Given the description of an element on the screen output the (x, y) to click on. 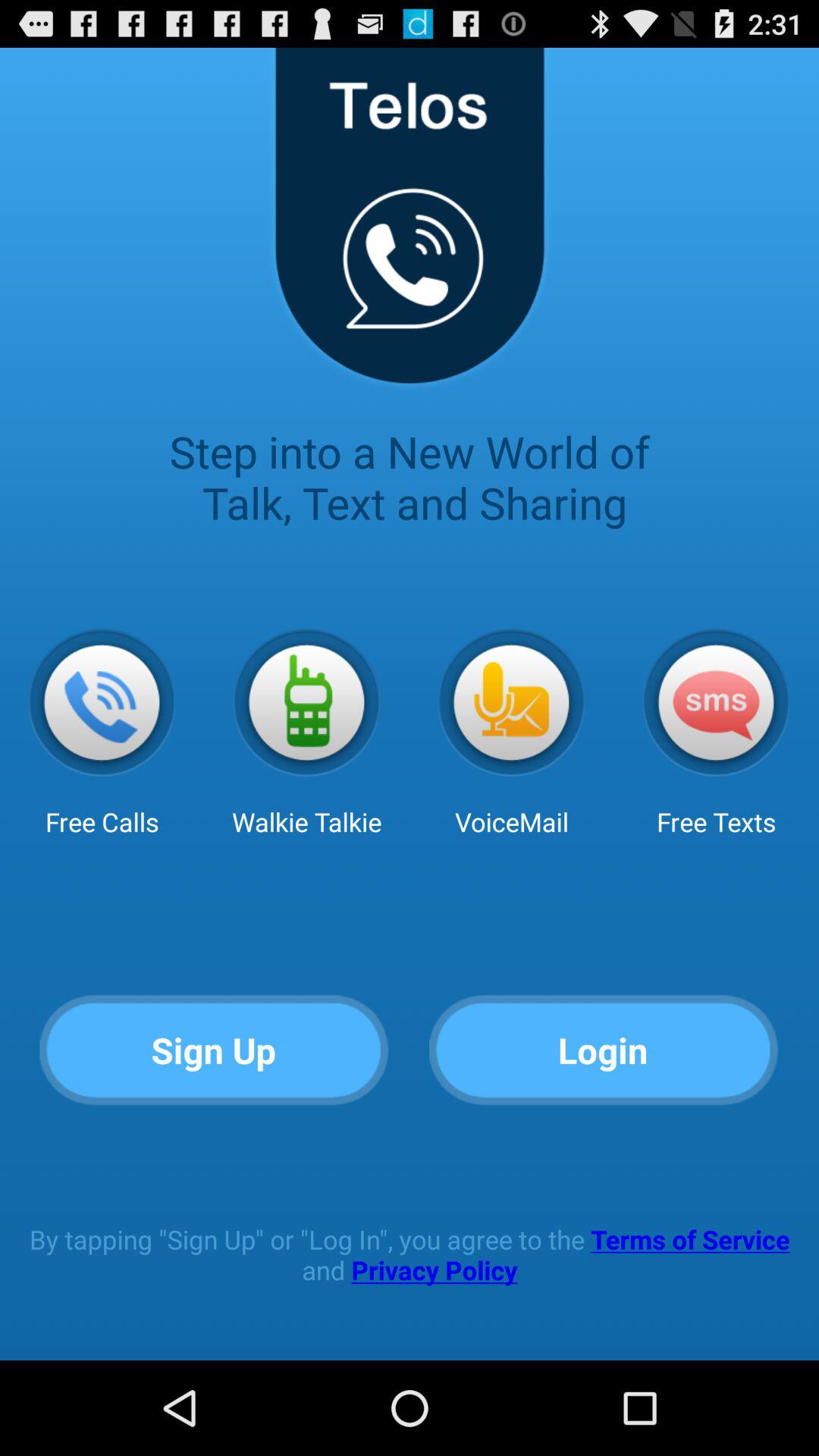
turn off the item above the step into a app (408, 226)
